Given the description of an element on the screen output the (x, y) to click on. 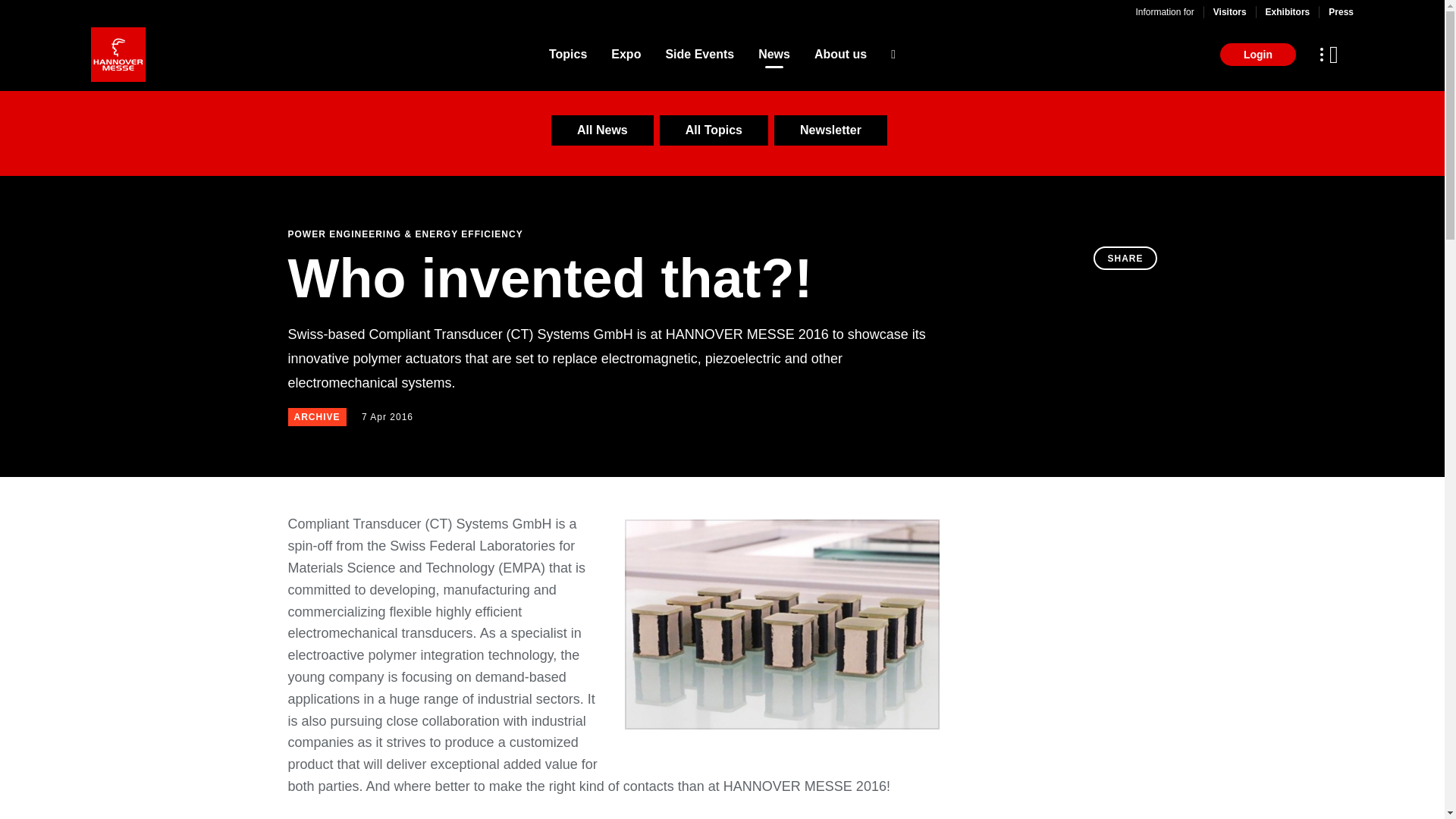
All Topics (713, 130)
All News (602, 130)
Side Events (699, 54)
Login (1257, 54)
News (774, 54)
Topics (567, 54)
Exhibitors (1287, 11)
Visitors (1229, 11)
Newsletter (830, 130)
Press (1340, 11)
